Given the description of an element on the screen output the (x, y) to click on. 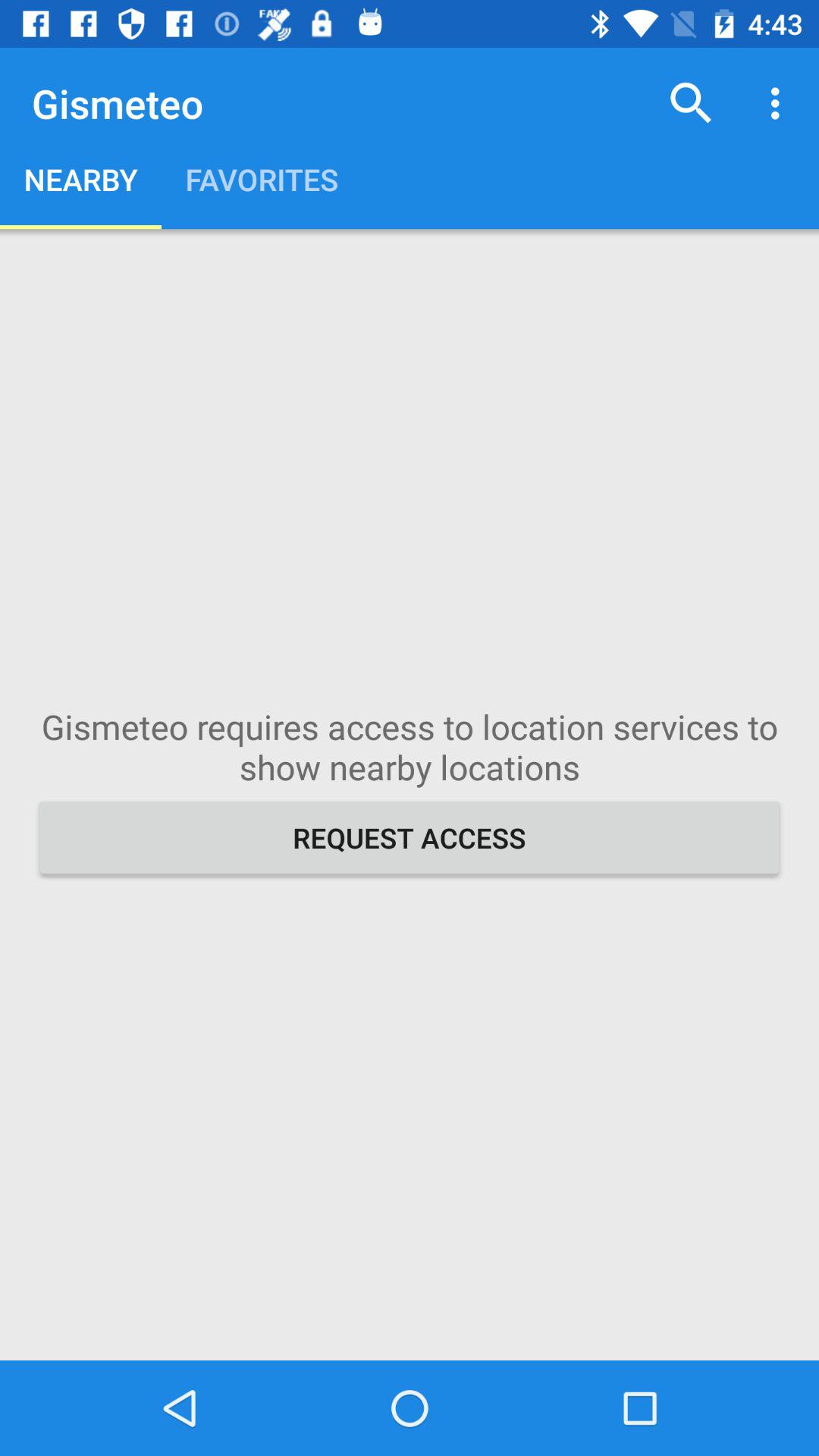
launch the icon next to favorites (691, 103)
